Given the description of an element on the screen output the (x, y) to click on. 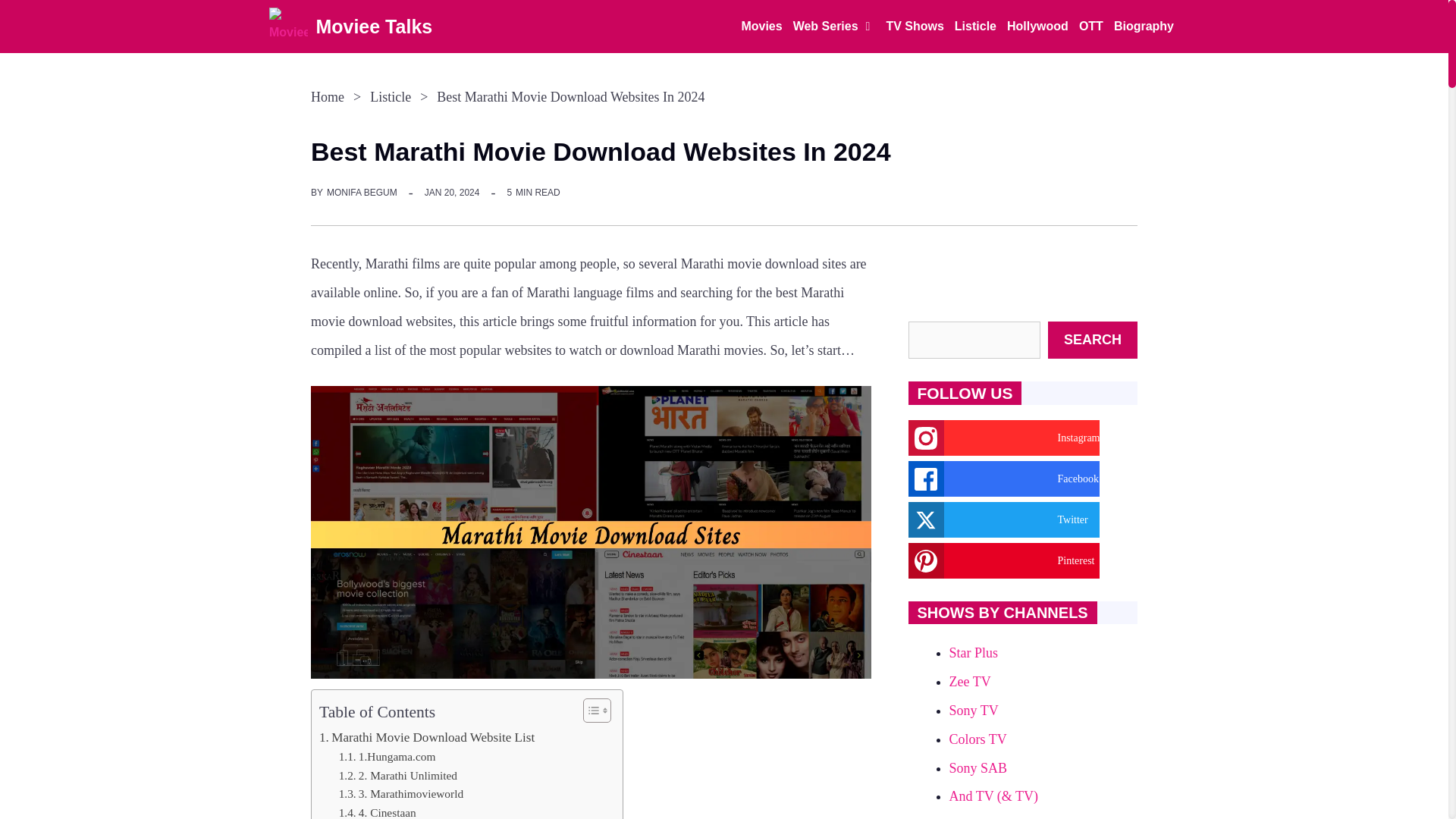
Listicle (975, 26)
3. Marathimovieworld (401, 793)
TV Shows (914, 26)
2. Marathi Unlimited (398, 775)
Marathi Movie Download Website List (426, 737)
Listicle (389, 96)
Biography (1143, 26)
Hollywood (1037, 26)
4. Cinestaan (377, 811)
MONIFA BEGUM (361, 192)
